Given the description of an element on the screen output the (x, y) to click on. 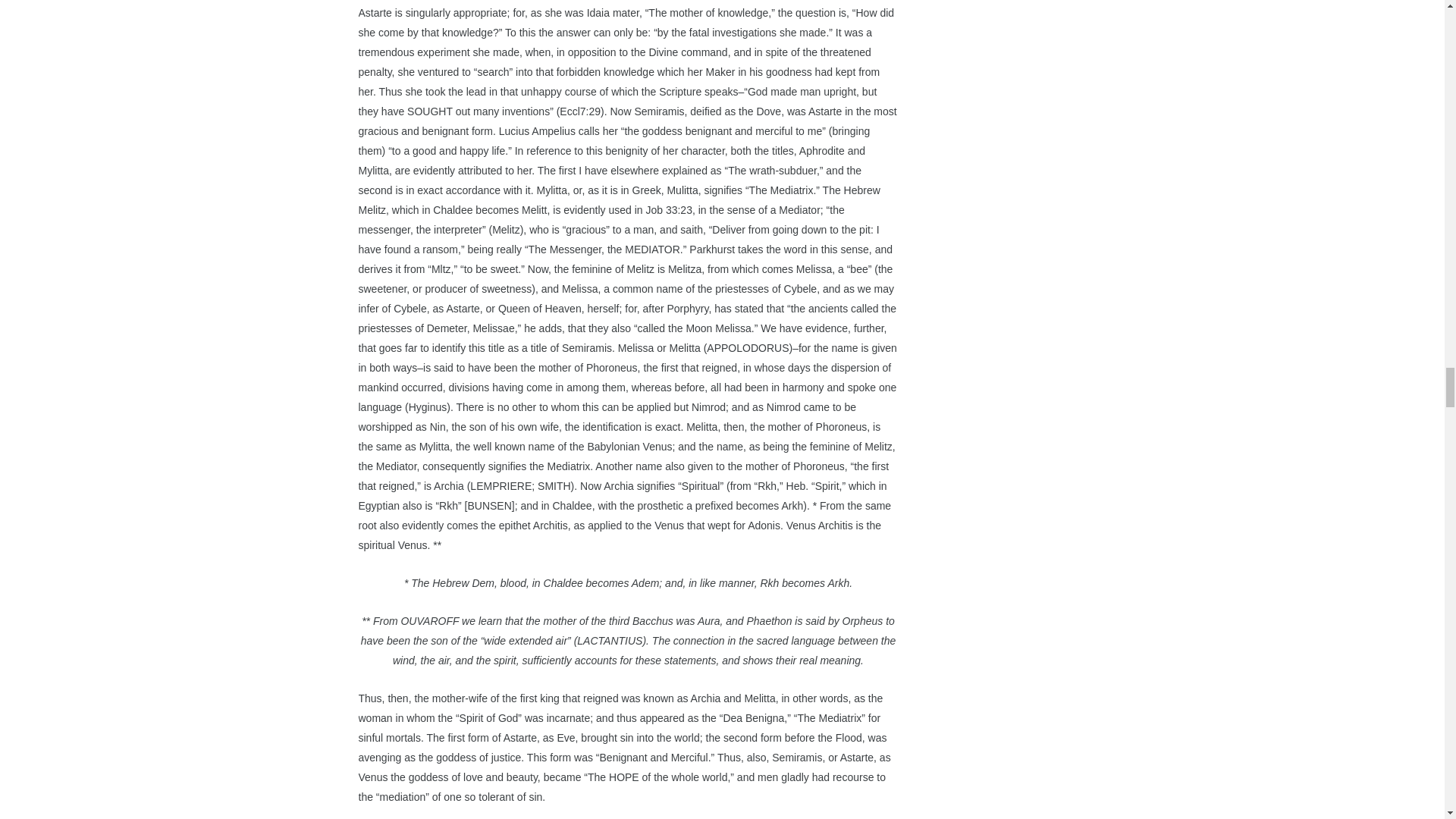
Page 101 (628, 689)
